Given the description of an element on the screen output the (x, y) to click on. 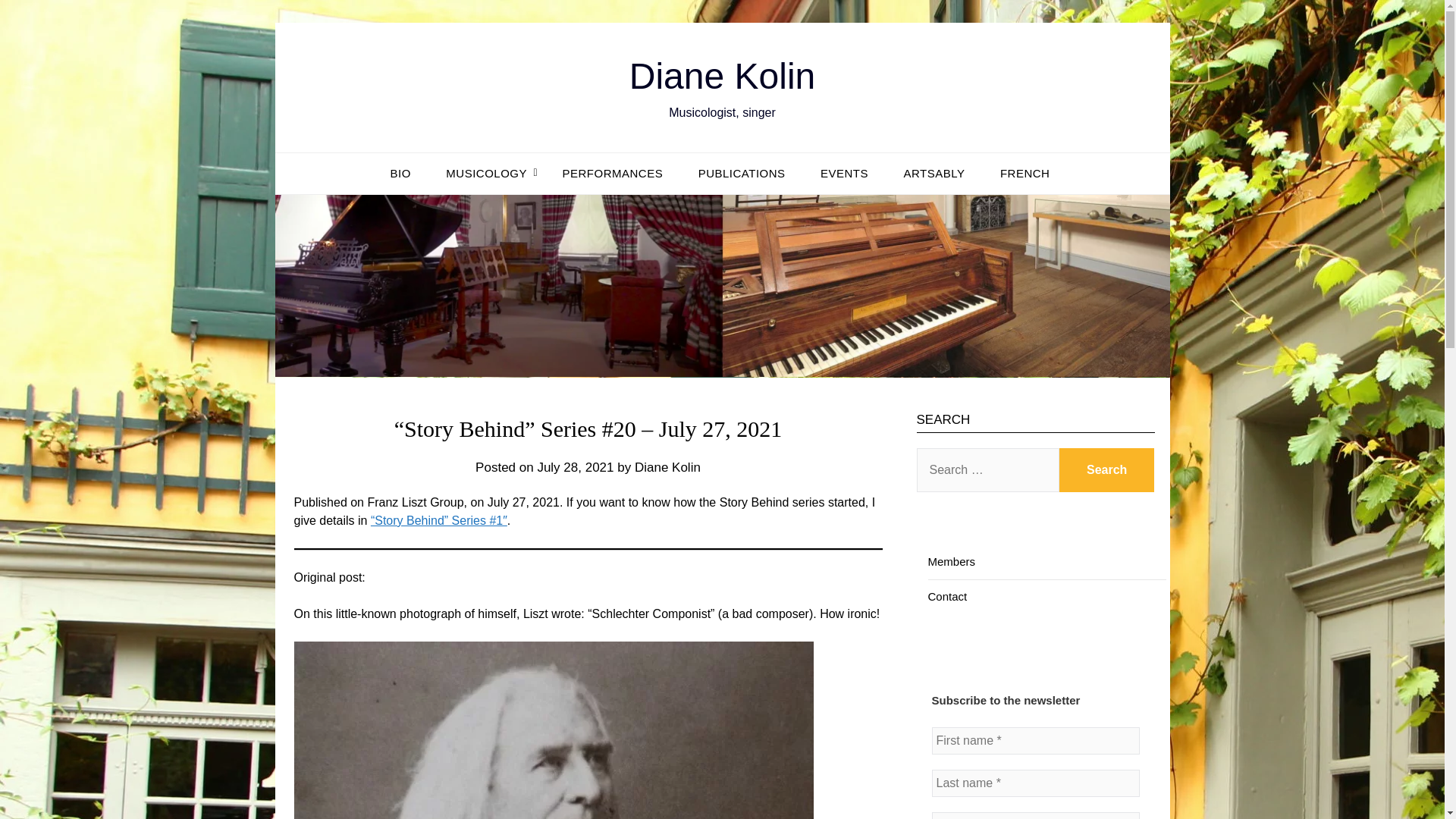
First name (1034, 740)
ARTSABLY (933, 173)
Search (1106, 469)
Last name (1034, 782)
Search (1106, 469)
Members (951, 561)
Diane Kolin (667, 467)
FRENCH (1025, 173)
Contact (948, 595)
Email Address (1034, 815)
PERFORMANCES (612, 173)
July 28, 2021 (574, 467)
MUSICOLOGY (485, 173)
Search (1106, 469)
BIO (406, 173)
